Given the description of an element on the screen output the (x, y) to click on. 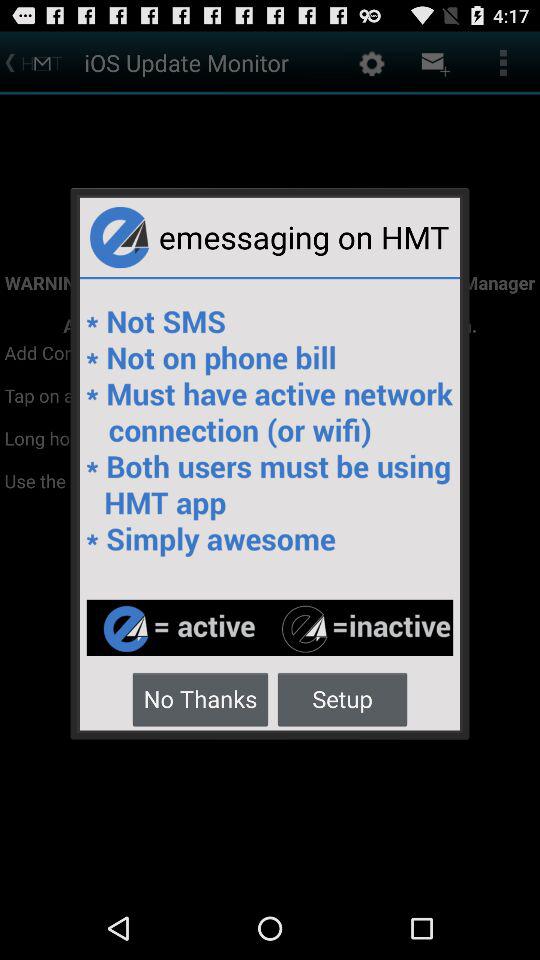
tap no thanks item (200, 698)
